Given the description of an element on the screen output the (x, y) to click on. 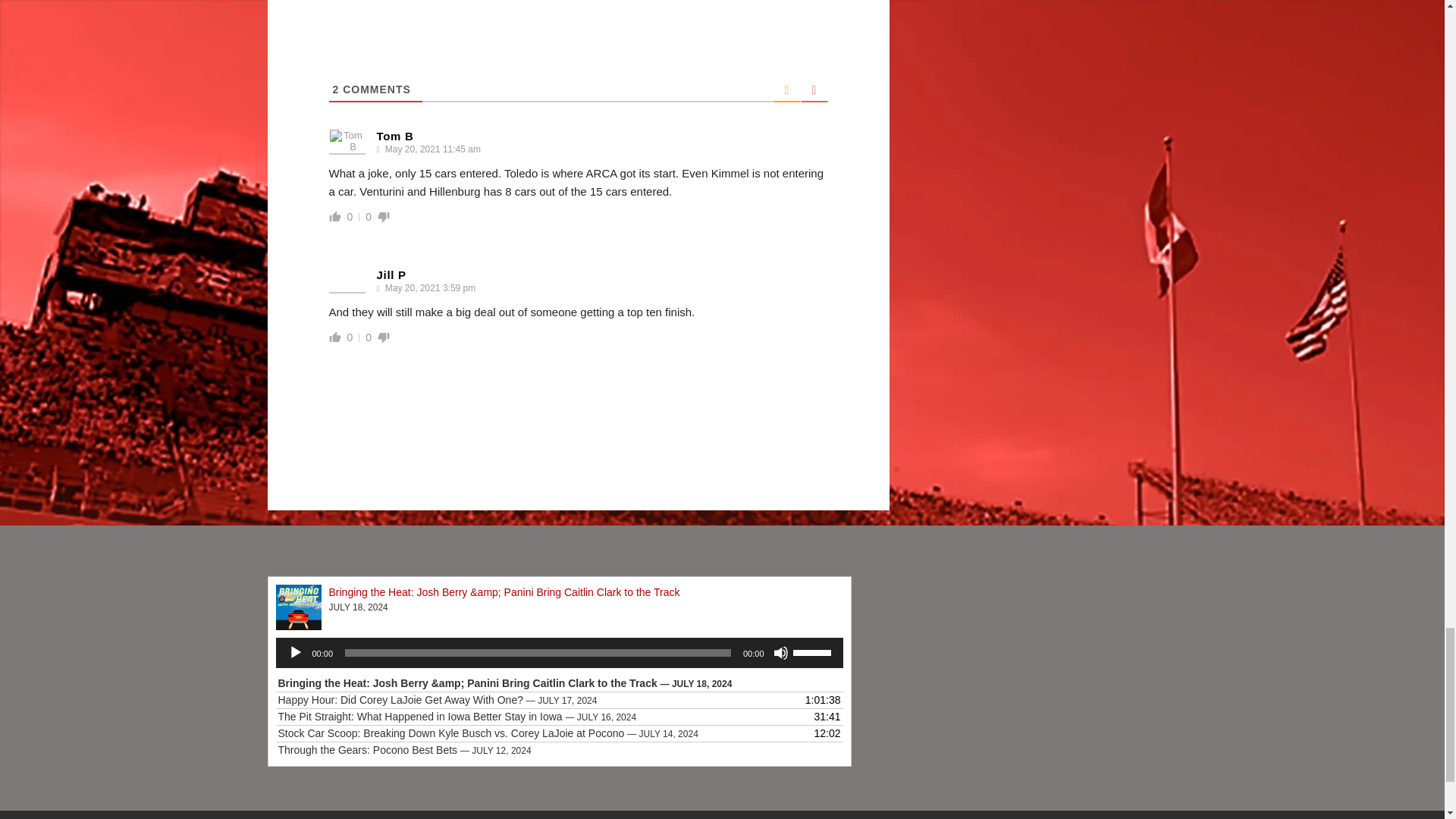
May 20, 2021 11:45 am (431, 149)
0 (349, 216)
